Given the description of an element on the screen output the (x, y) to click on. 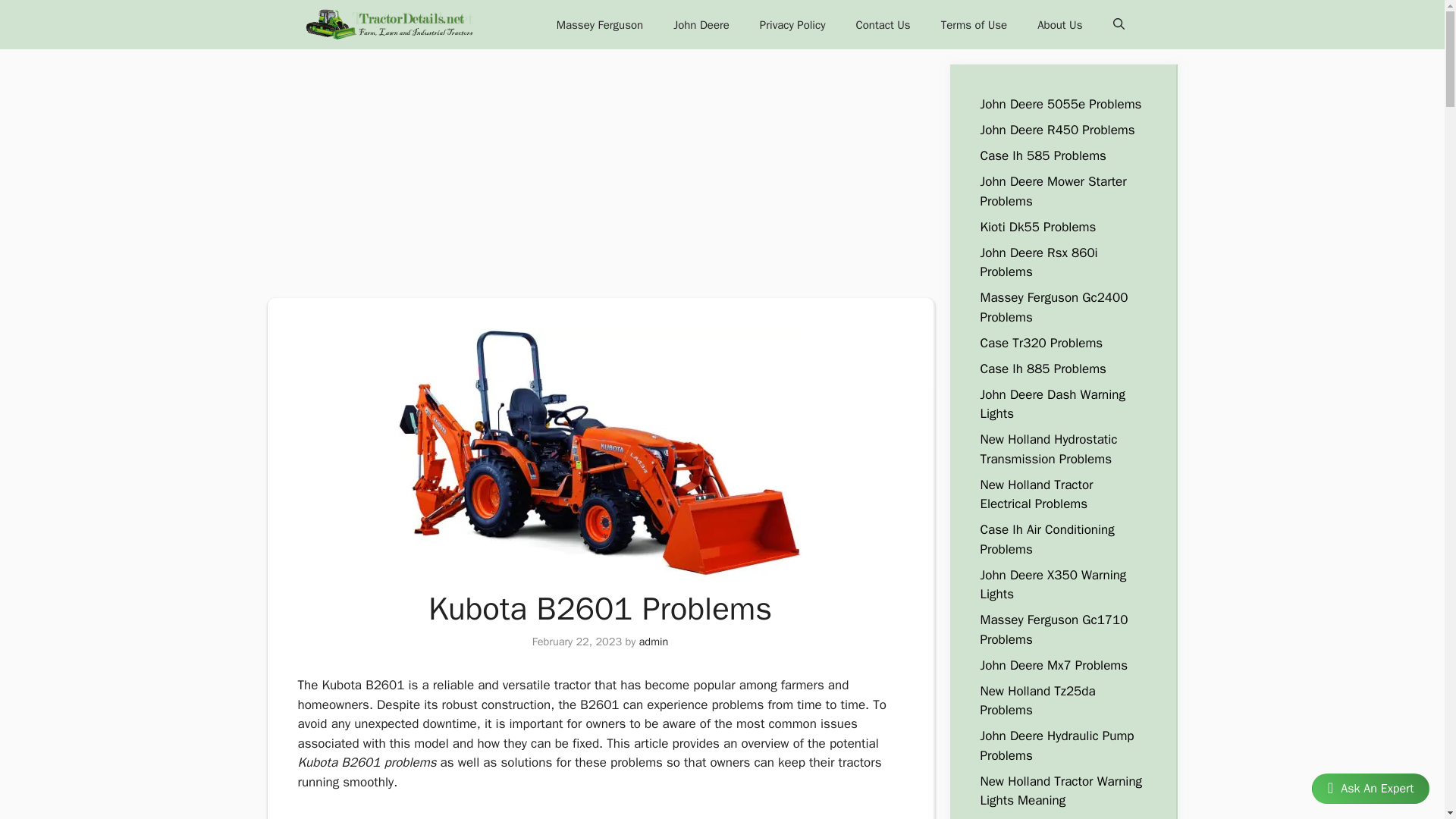
Terms of Use (974, 23)
Privacy Policy (792, 23)
Massey Ferguson (599, 23)
Contact Us (882, 23)
John Deere (701, 23)
About Us (1059, 23)
kubota b2601 problems 1 (599, 452)
John Deere 5055e Problems (1060, 104)
View all posts by admin (653, 641)
admin (653, 641)
